Given the description of an element on the screen output the (x, y) to click on. 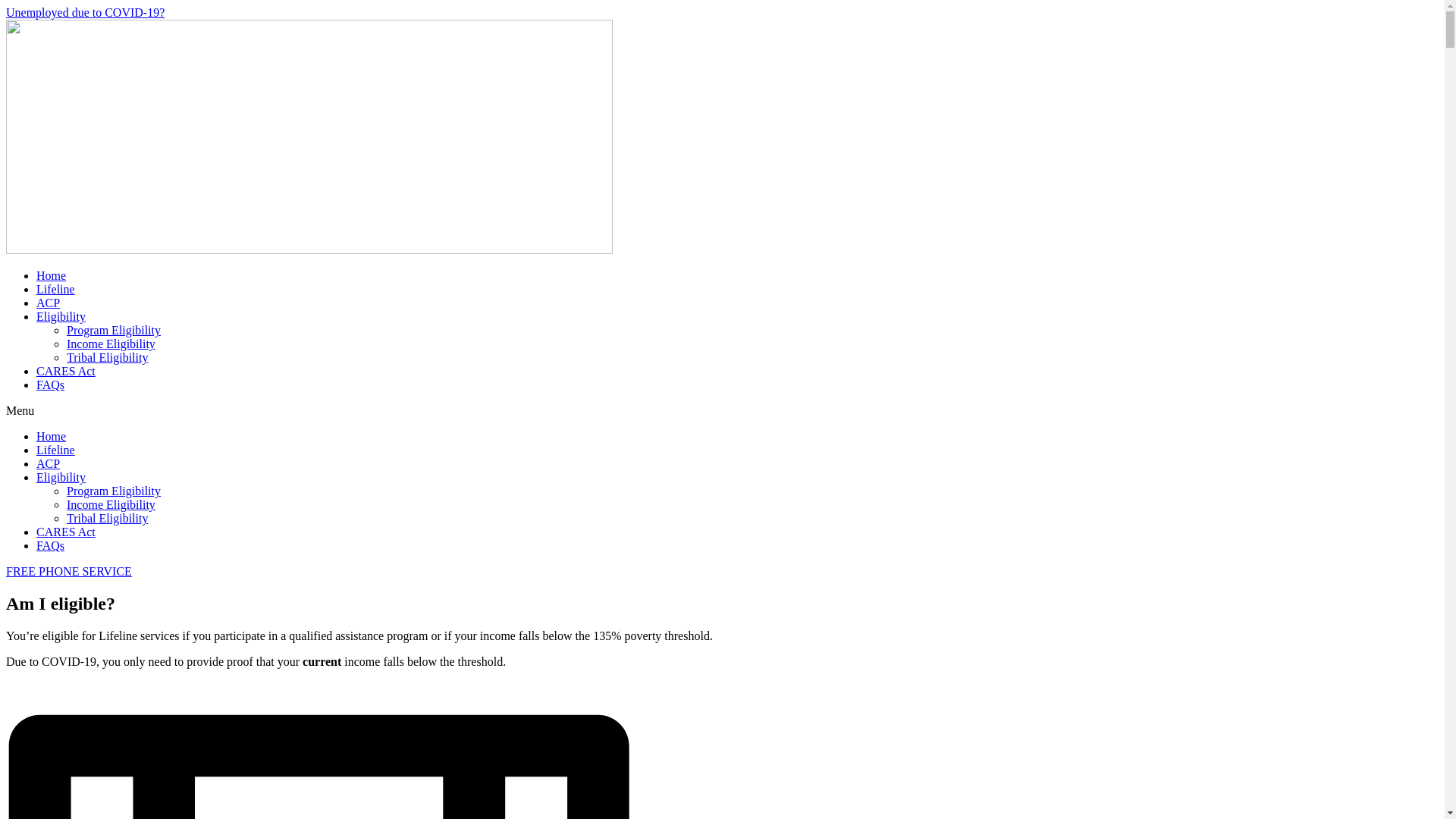
Lifeline (55, 288)
Income Eligibility (110, 343)
Tribal Eligibility (107, 517)
Home (50, 436)
Eligibility (60, 316)
FAQs (50, 545)
FAQs (50, 384)
Home (50, 275)
CARES Act (66, 370)
ACP (47, 463)
Program Eligibility (113, 329)
Program Eligibility (113, 490)
Income Eligibility (110, 504)
CARES Act (66, 531)
Unemployed due to COVID-19? (84, 11)
